Given the description of an element on the screen output the (x, y) to click on. 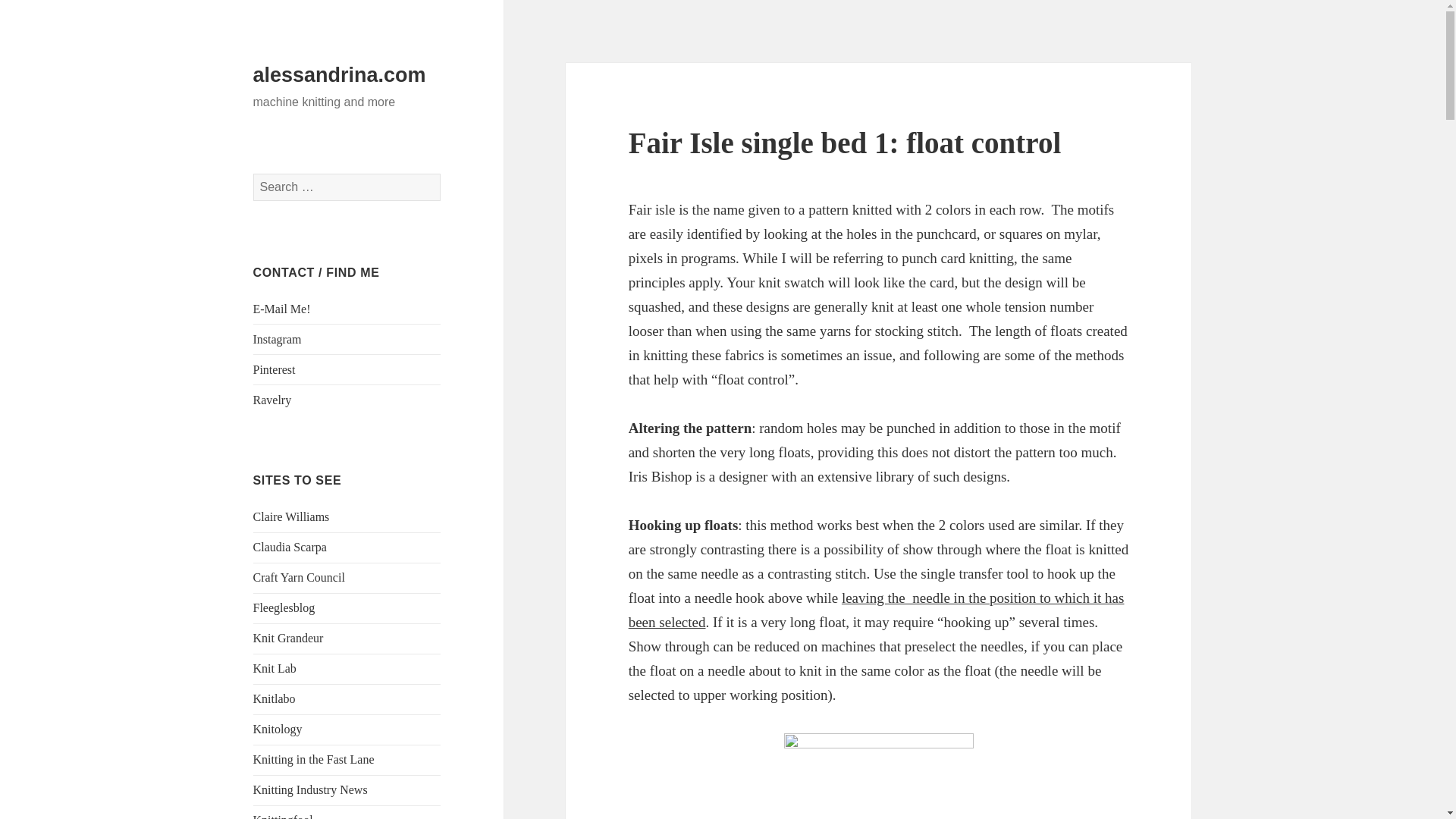
Ravelry (272, 399)
Knit Grandeur (288, 637)
Claire Williams (291, 516)
machine knitting resource (291, 516)
spinning, knitting and more; wonderful archives (284, 607)
Knitting in the Fast Lane (313, 758)
Knitlabo (274, 698)
Knitology (277, 728)
more shared mk, hk information (272, 399)
